Given the description of an element on the screen output the (x, y) to click on. 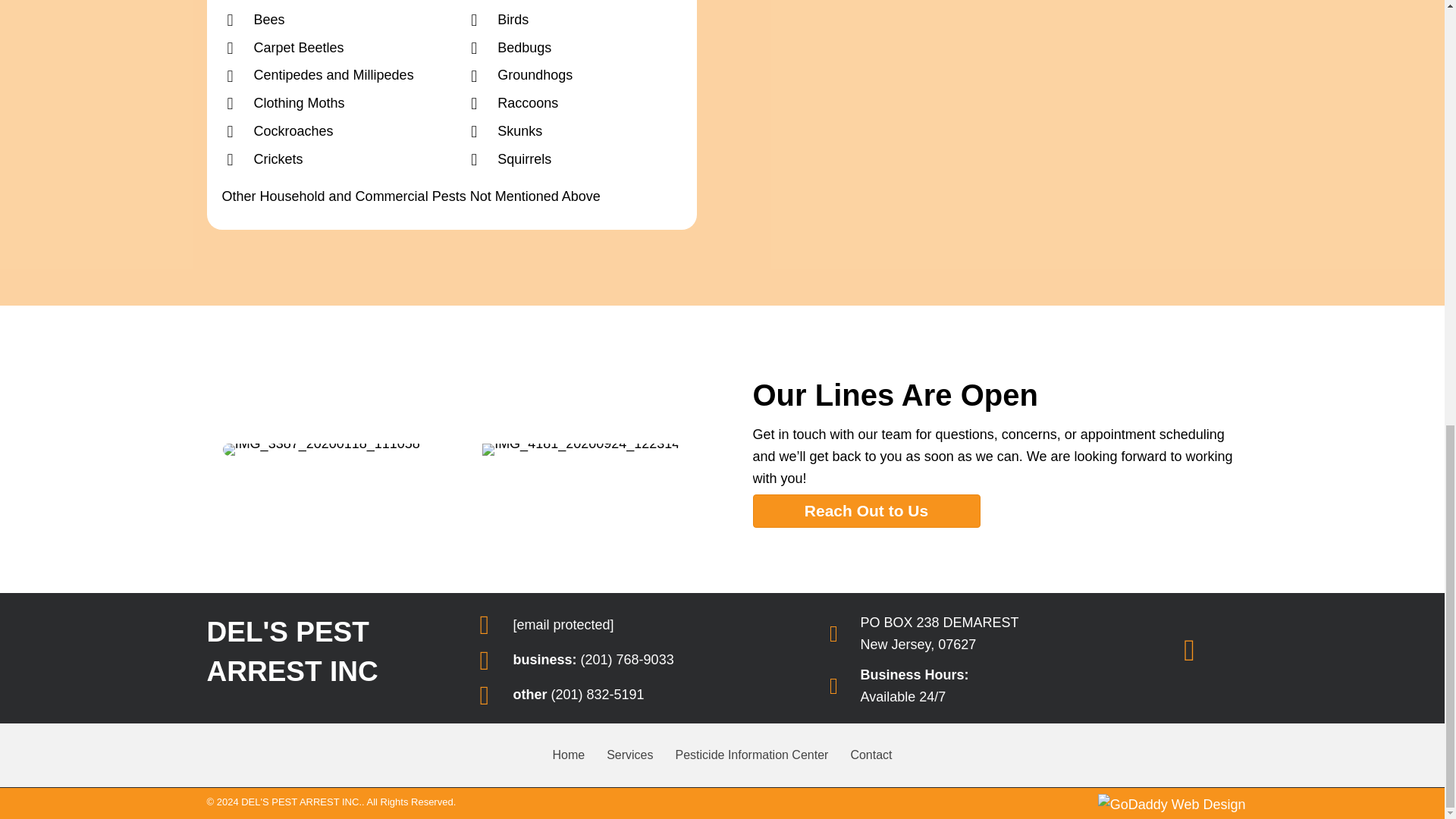
DEL'S PEST ARREST INC (323, 671)
Services (629, 755)
Reach Out to Us (865, 510)
Pesticide Information Center (752, 755)
Home (568, 755)
Contact (871, 755)
